Given the description of an element on the screen output the (x, y) to click on. 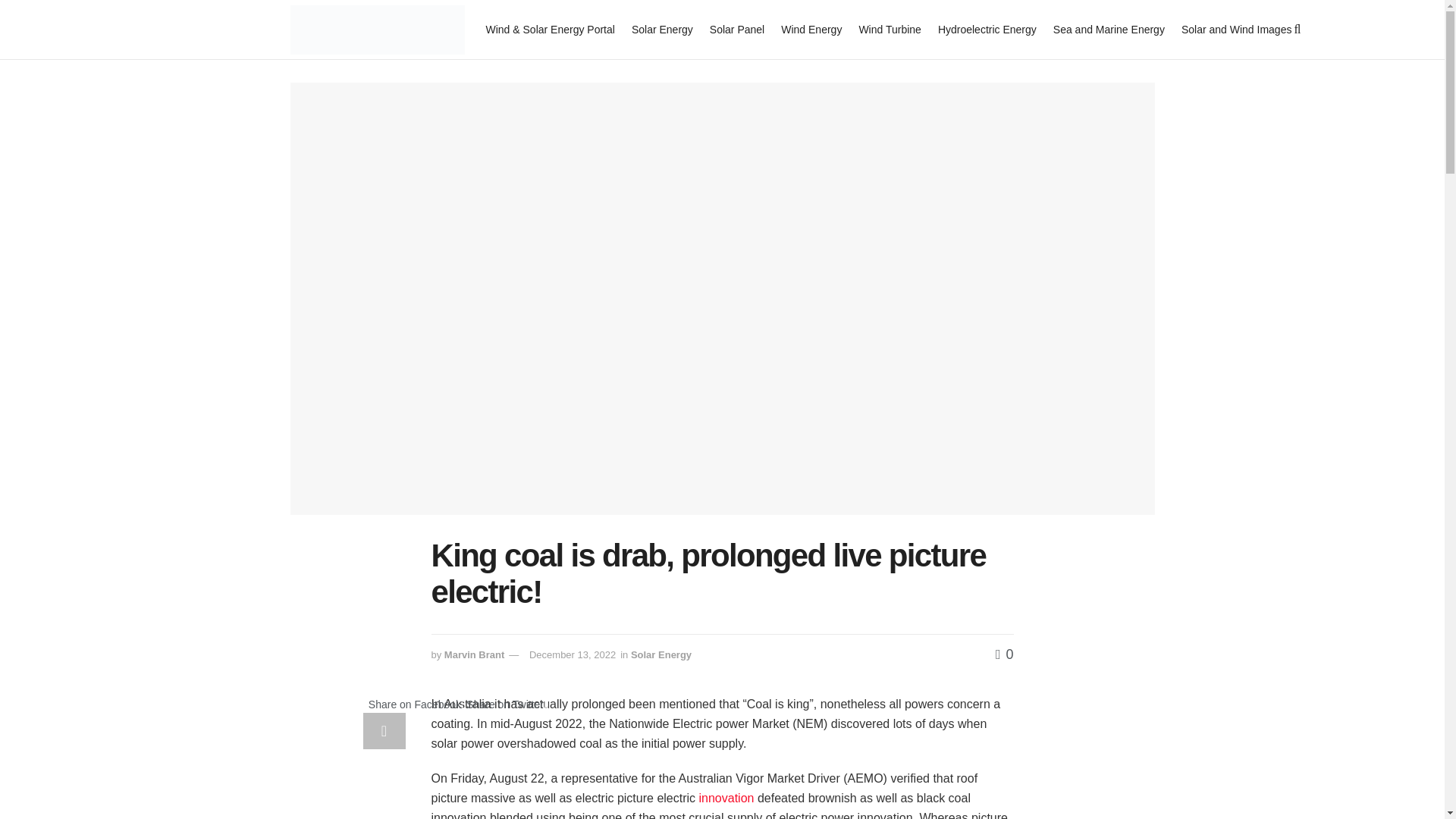
Hydroelectric Energy (986, 29)
Solar Panel (737, 29)
0 (1004, 654)
December 13, 2022 (572, 654)
Marvin Brant (473, 654)
Wind Energy (810, 29)
Wind Turbine (889, 29)
Solar and Wind Images (1236, 29)
innovation (726, 797)
Sea and Marine Energy (1108, 29)
